Given the description of an element on the screen output the (x, y) to click on. 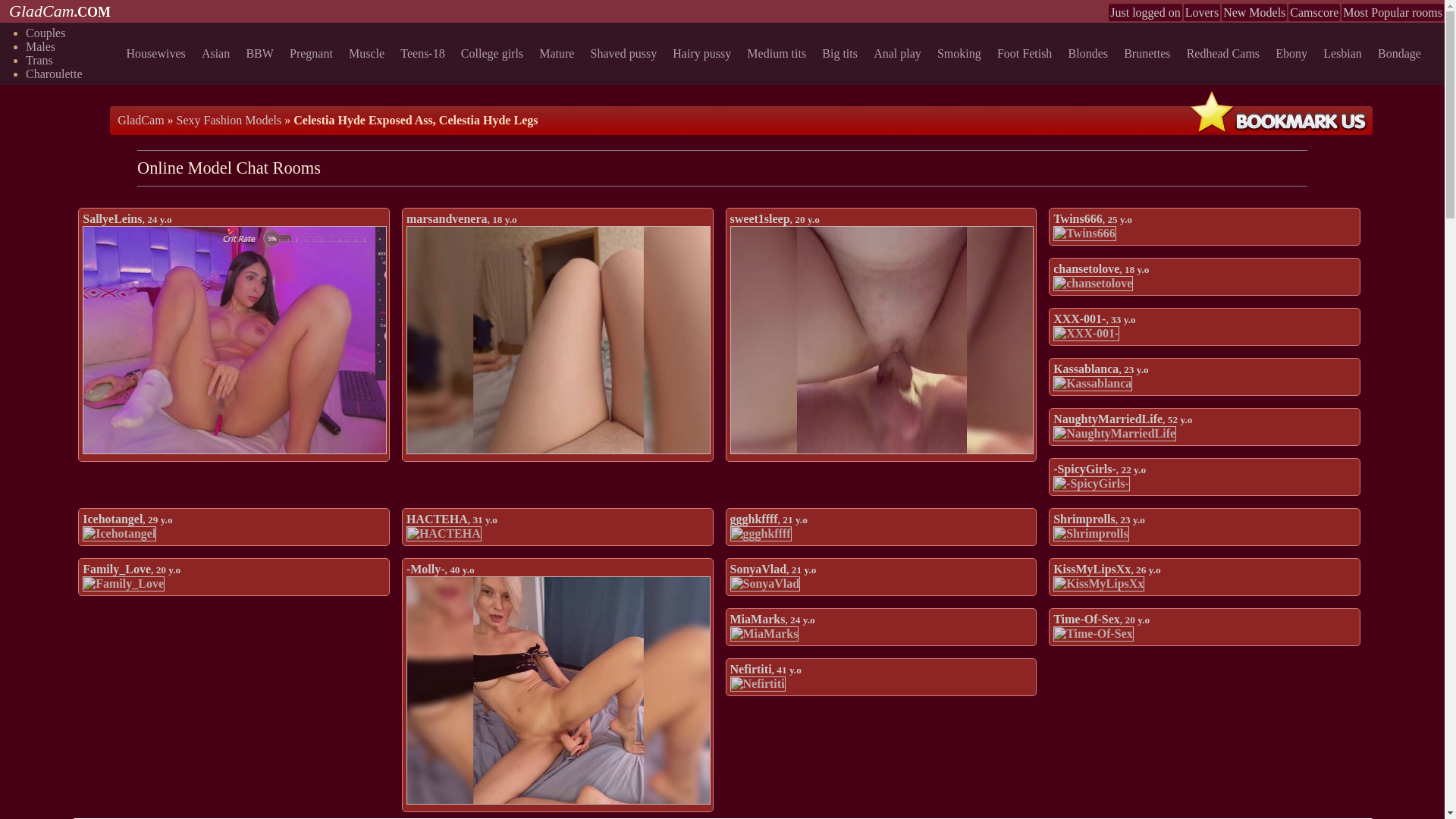
Live Sex Cams with marsandvenera (558, 340)
Blondes (1090, 52)
Live Sex Cams with XXX-001- (1085, 333)
Trans (39, 60)
Ebony (1294, 52)
marsandvenera, 18 y.o (461, 218)
Live Sex Cams with HACTEHA (443, 533)
sweet1sleep, 20 y.o (773, 218)
New Models (1254, 12)
Twins666, 25 y.o (1092, 218)
Pregnant (313, 52)
Housewives (158, 52)
Live Sex Cams with Kassablanca (1092, 383)
College girls (494, 52)
Live Sex Cams with Twins666 (1084, 233)
